Given the description of an element on the screen output the (x, y) to click on. 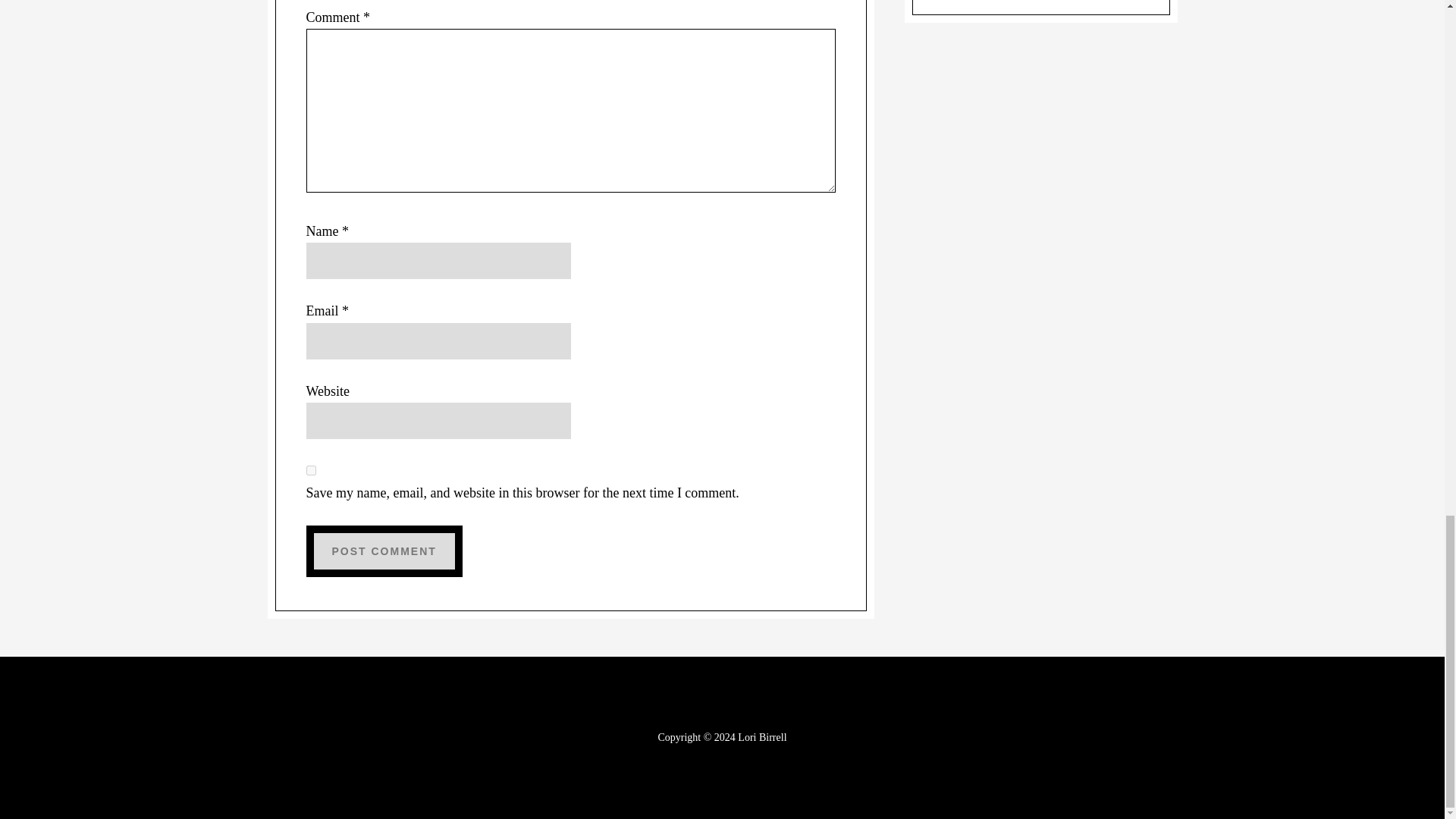
Post Comment (384, 551)
yes (310, 470)
Post Comment (384, 551)
